Given the description of an element on the screen output the (x, y) to click on. 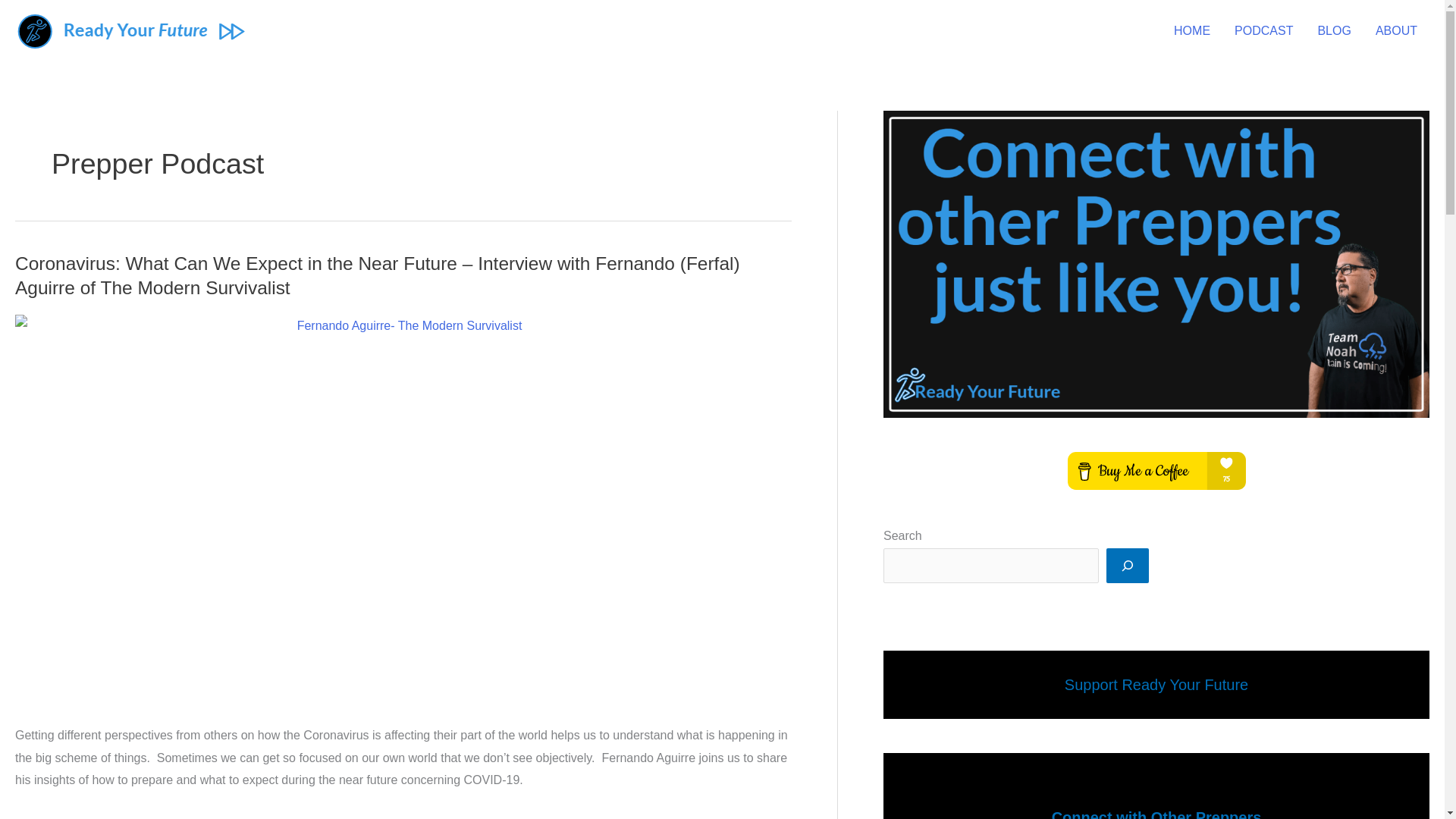
BLOG (1333, 30)
HOME (1192, 30)
ABOUT (1395, 30)
PODCAST (1263, 30)
